Given the description of an element on the screen output the (x, y) to click on. 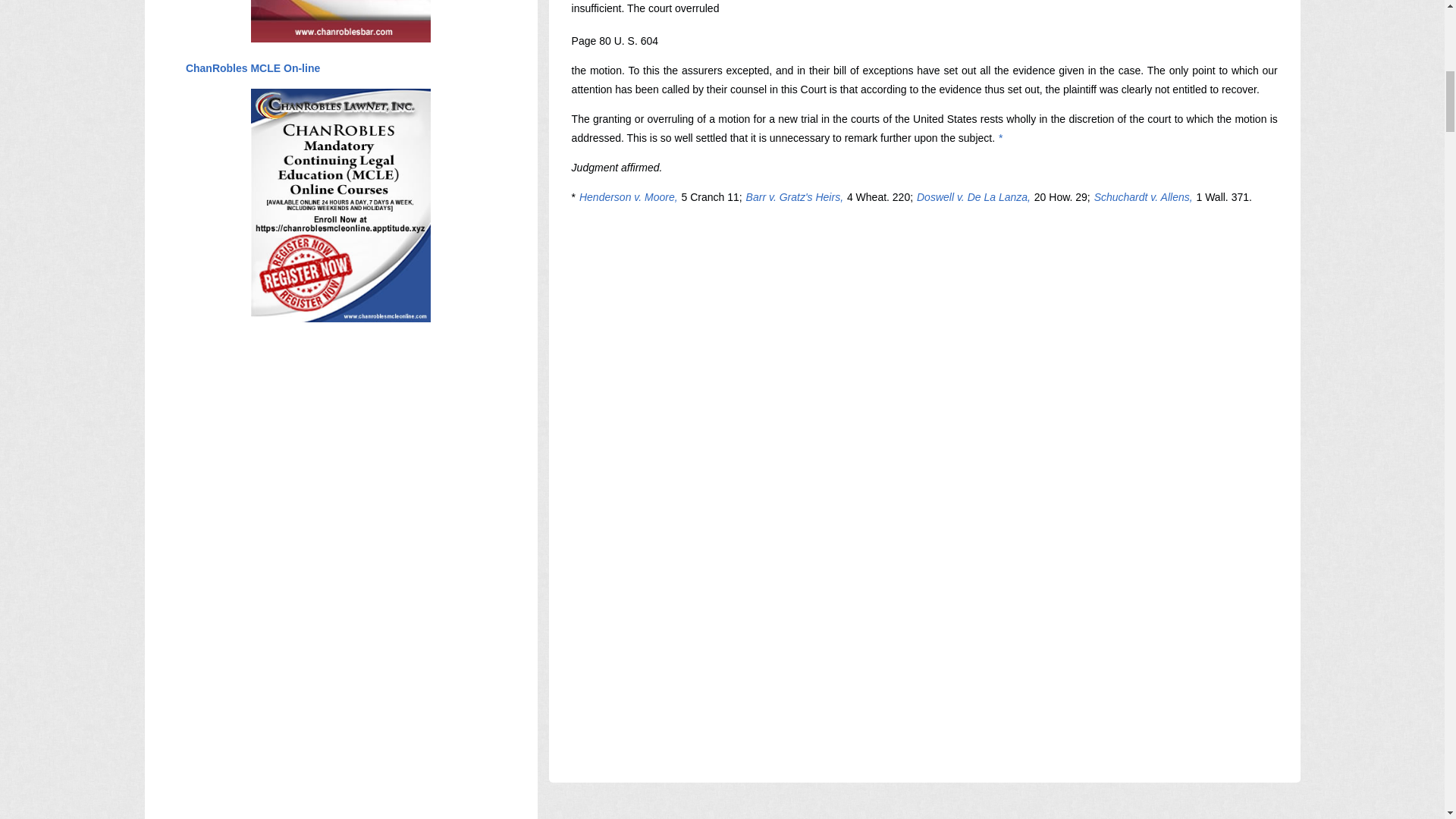
ChanRobles MCLE On-line (252, 68)
Page 80 U. S. 604 (615, 40)
Barr v. Gratz's Heirs, (794, 196)
Doswell v. De La Lanza, (972, 196)
Henderson v. Moore, (628, 196)
